Given the description of an element on the screen output the (x, y) to click on. 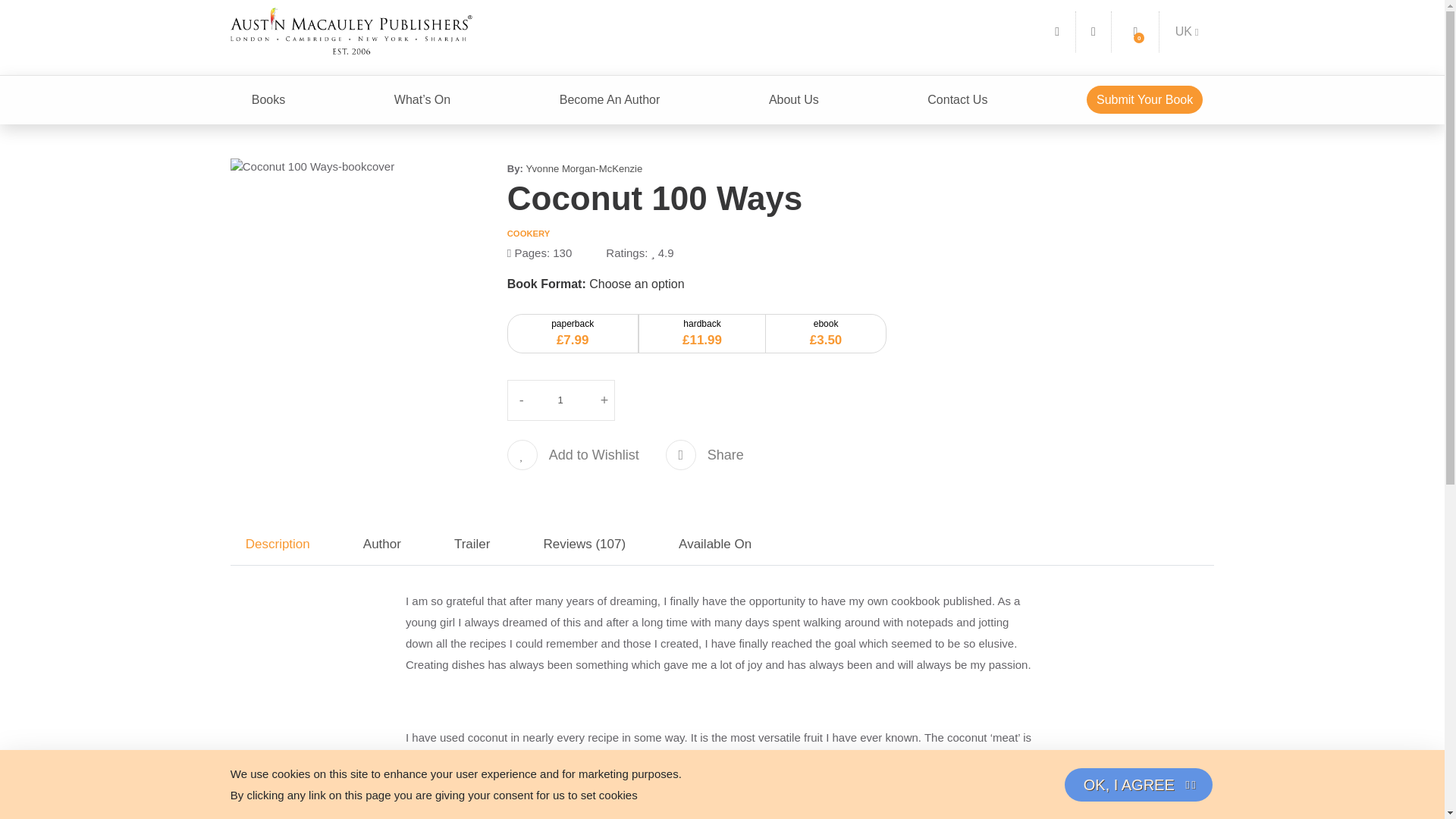
Branch (1187, 31)
UK (1187, 31)
1 (560, 400)
Books (268, 99)
